Given the description of an element on the screen output the (x, y) to click on. 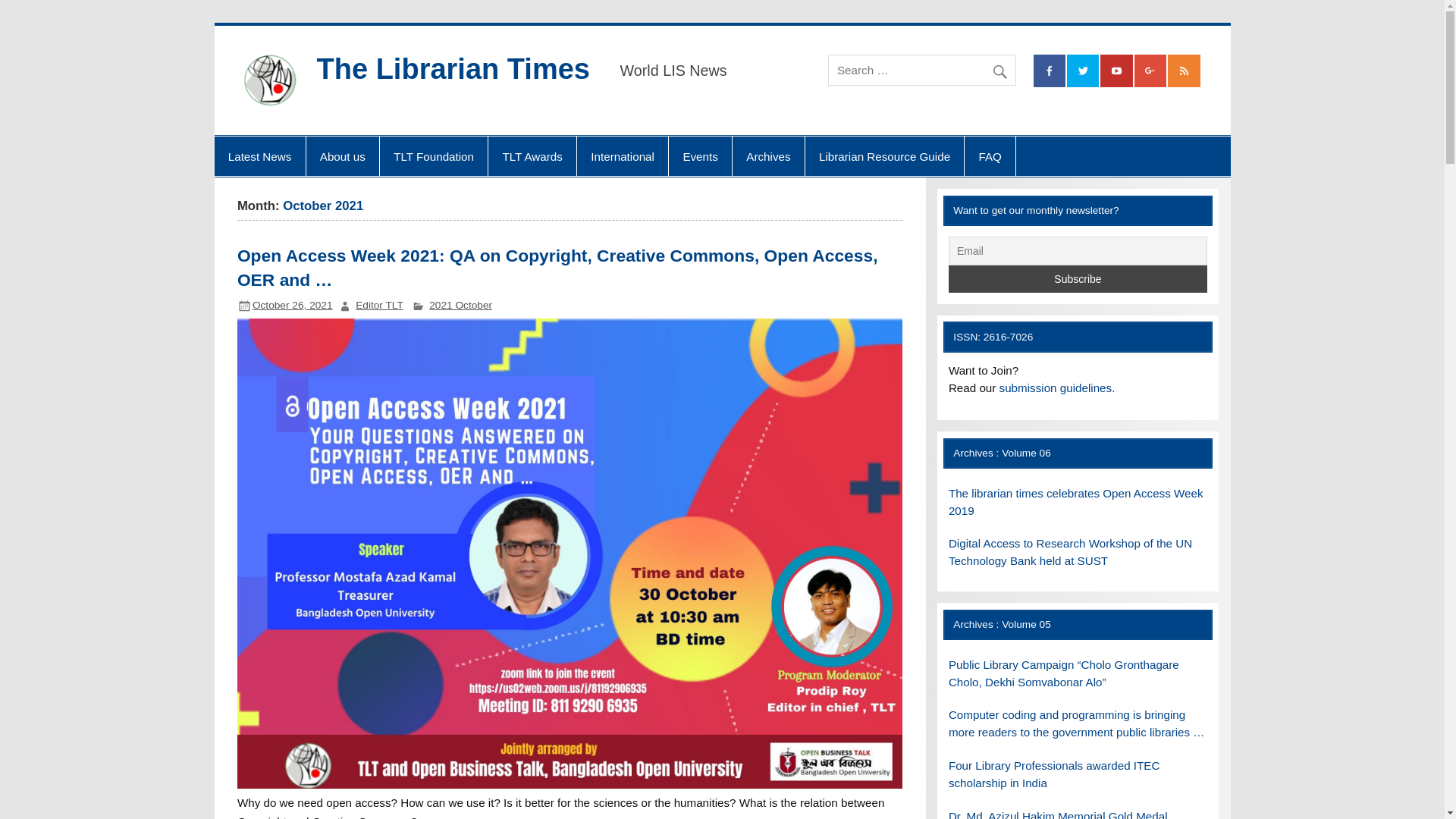
International (622, 156)
Latest News (259, 156)
TLT Foundation (433, 156)
The Librarian Times (453, 69)
Events (700, 156)
Librarian Resource Guide (884, 156)
Subscribe (1078, 278)
Archives (768, 156)
About us (341, 156)
View all posts by Editor TLT (379, 305)
TLT Awards (531, 156)
6:45 pm (292, 305)
